Given the description of an element on the screen output the (x, y) to click on. 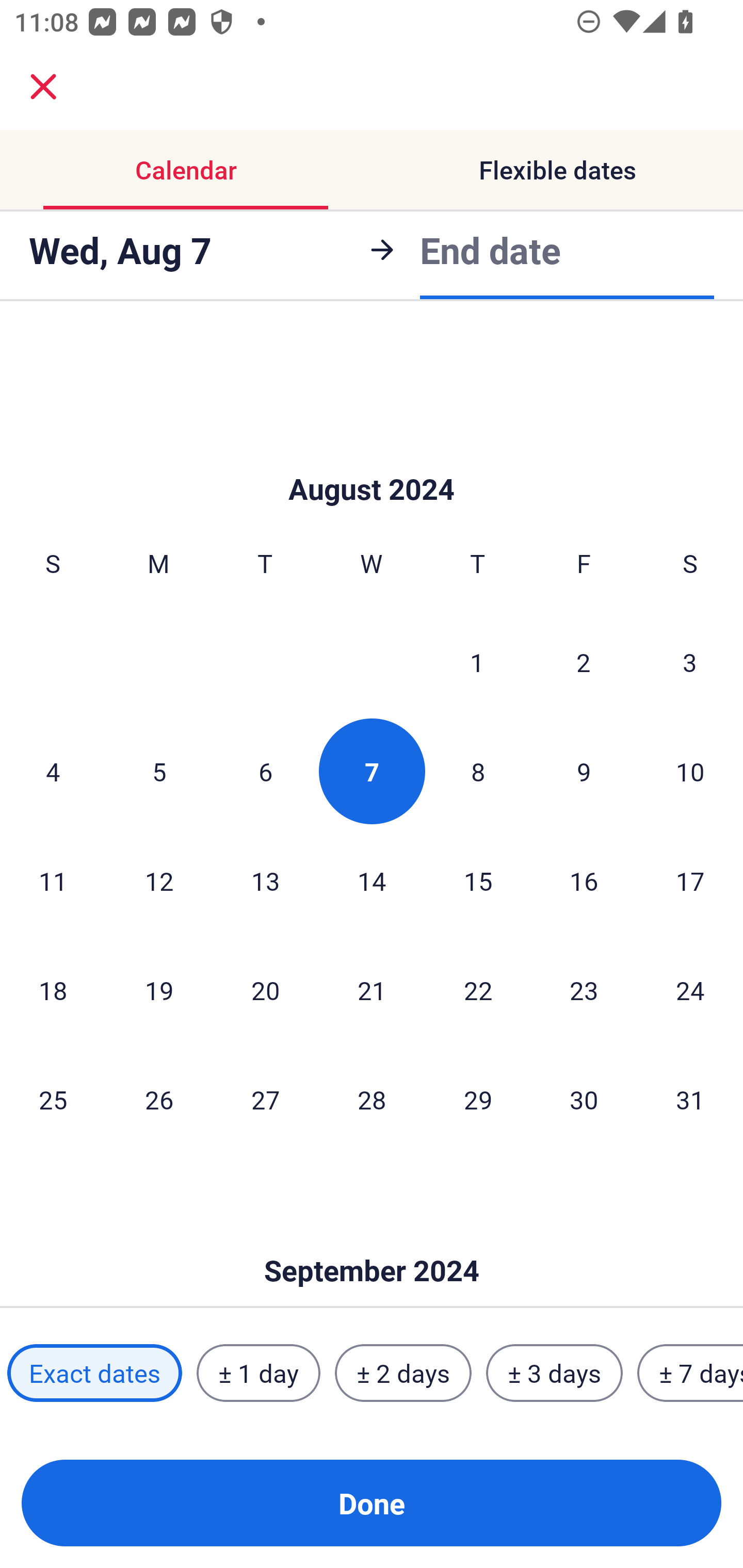
close. (43, 86)
Flexible dates (557, 170)
End date (489, 249)
Skip to Done (371, 458)
1 Thursday, August 1, 2024 (477, 661)
2 Friday, August 2, 2024 (583, 661)
3 Saturday, August 3, 2024 (689, 661)
4 Sunday, August 4, 2024 (53, 771)
5 Monday, August 5, 2024 (159, 771)
6 Tuesday, August 6, 2024 (265, 771)
8 Thursday, August 8, 2024 (477, 771)
9 Friday, August 9, 2024 (584, 771)
10 Saturday, August 10, 2024 (690, 771)
11 Sunday, August 11, 2024 (53, 879)
12 Monday, August 12, 2024 (159, 879)
13 Tuesday, August 13, 2024 (265, 879)
14 Wednesday, August 14, 2024 (371, 879)
15 Thursday, August 15, 2024 (477, 879)
16 Friday, August 16, 2024 (584, 879)
17 Saturday, August 17, 2024 (690, 879)
18 Sunday, August 18, 2024 (53, 989)
19 Monday, August 19, 2024 (159, 989)
20 Tuesday, August 20, 2024 (265, 989)
21 Wednesday, August 21, 2024 (371, 989)
22 Thursday, August 22, 2024 (477, 989)
23 Friday, August 23, 2024 (584, 989)
24 Saturday, August 24, 2024 (690, 989)
25 Sunday, August 25, 2024 (53, 1098)
26 Monday, August 26, 2024 (159, 1098)
27 Tuesday, August 27, 2024 (265, 1098)
28 Wednesday, August 28, 2024 (371, 1098)
29 Thursday, August 29, 2024 (477, 1098)
30 Friday, August 30, 2024 (584, 1098)
31 Saturday, August 31, 2024 (690, 1098)
Skip to Done (371, 1239)
Exact dates (94, 1372)
± 1 day (258, 1372)
± 2 days (403, 1372)
± 3 days (553, 1372)
± 7 days (690, 1372)
Done (371, 1502)
